Given the description of an element on the screen output the (x, y) to click on. 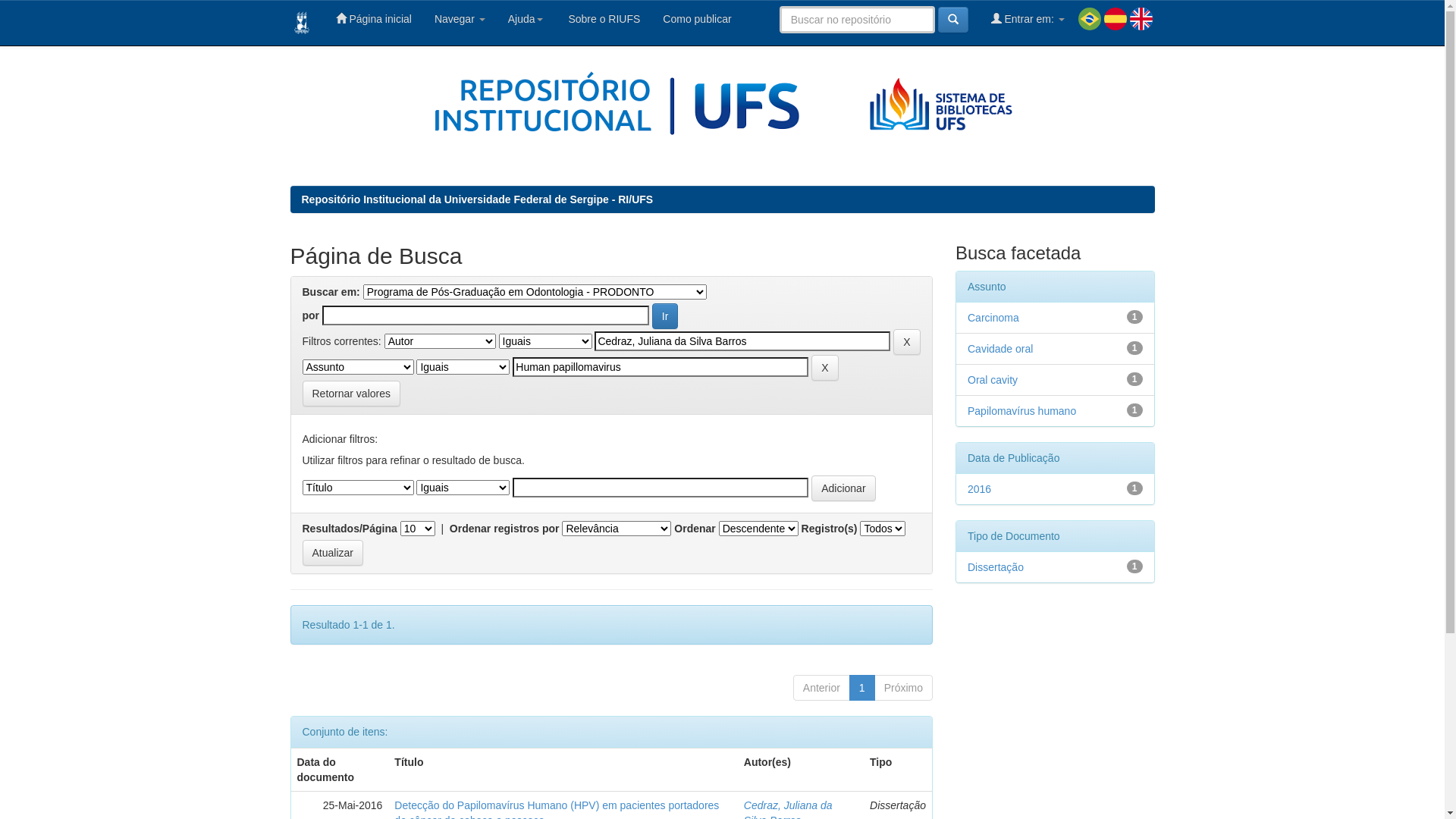
Como publicar Element type: text (696, 18)
X Element type: text (824, 367)
Atualizar Element type: text (331, 552)
Ajuda Element type: text (525, 18)
X Element type: text (906, 341)
Navegar Element type: text (459, 18)
Adicionar Element type: text (843, 488)
2016 Element type: text (979, 489)
Entrar em: Element type: text (1027, 18)
Cavidade oral Element type: text (999, 348)
Carcinoma Element type: text (993, 317)
Ir Element type: text (665, 316)
Oral cavity Element type: text (992, 379)
Sobre o RIUFS Element type: text (603, 18)
Retornar valores Element type: text (350, 393)
